Given the description of an element on the screen output the (x, y) to click on. 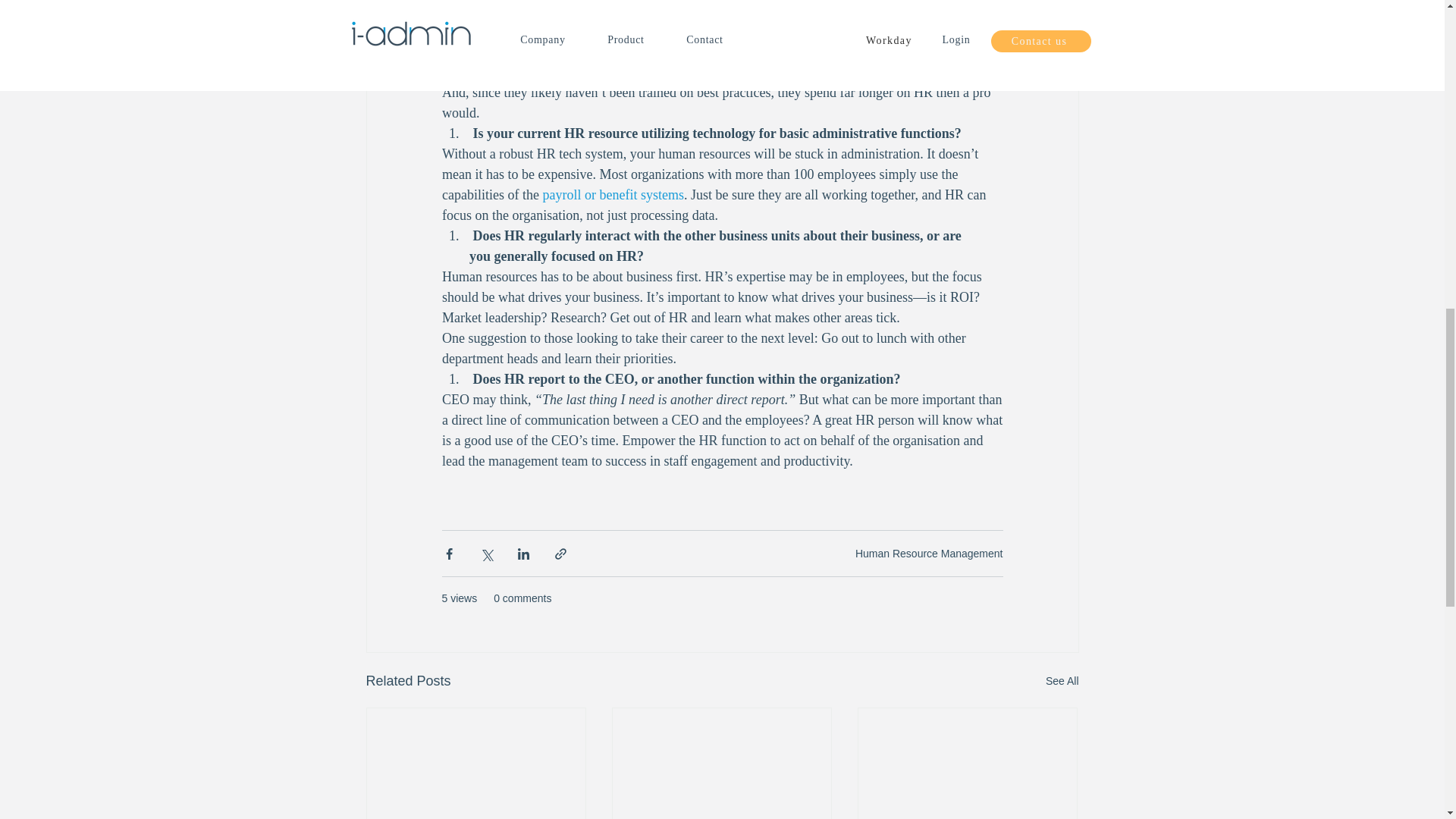
Human Resource Management (929, 553)
See All (1061, 681)
payroll or benefit systems (611, 194)
